Given the description of an element on the screen output the (x, y) to click on. 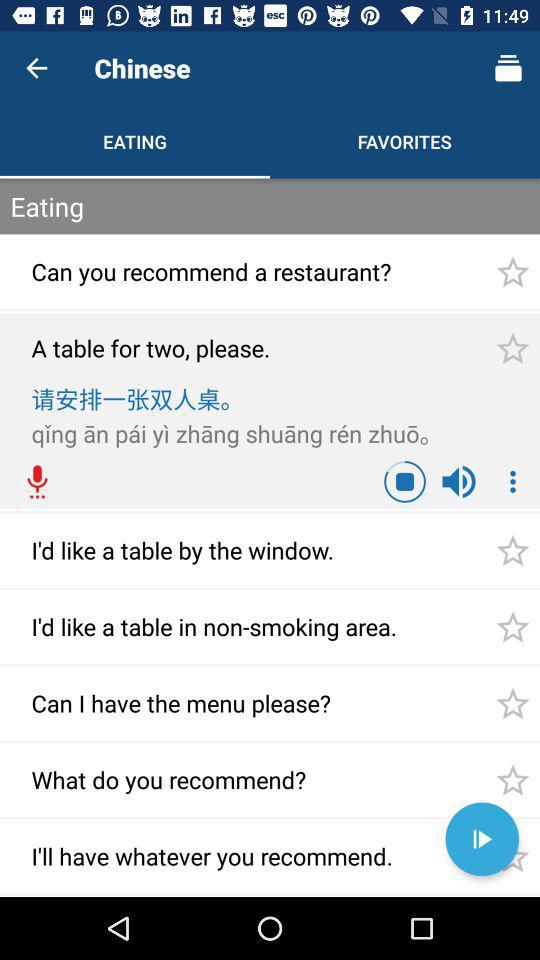
click on the star icon which is right to the text id like a table in nonsmoking area (512, 627)
